Given the description of an element on the screen output the (x, y) to click on. 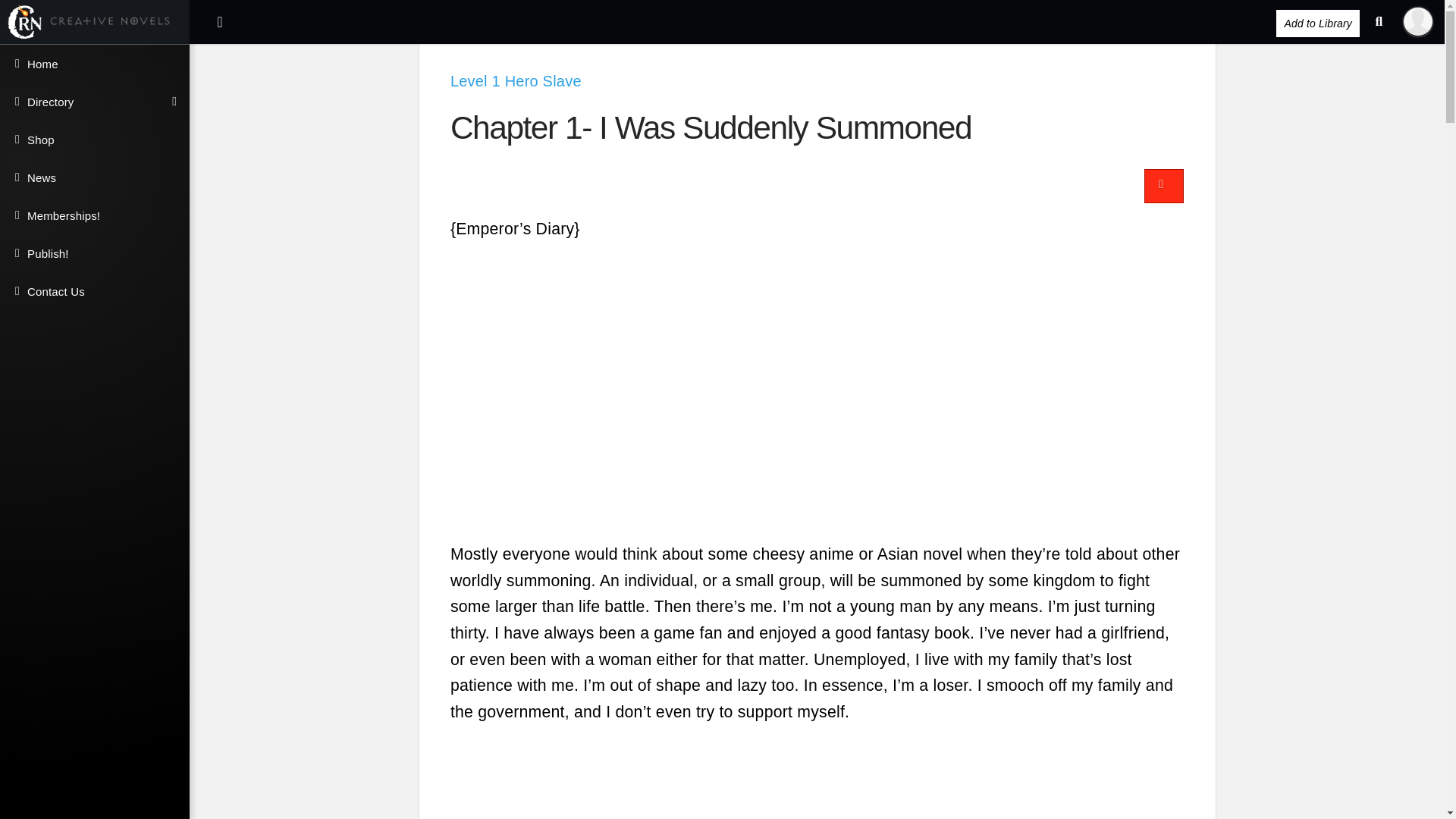
Level 1 Hero Slave (514, 80)
Publish! (94, 252)
Home (94, 63)
Memberships! (94, 215)
News (94, 177)
Contact Us (94, 290)
Shop (94, 139)
Directory (94, 101)
